Given the description of an element on the screen output the (x, y) to click on. 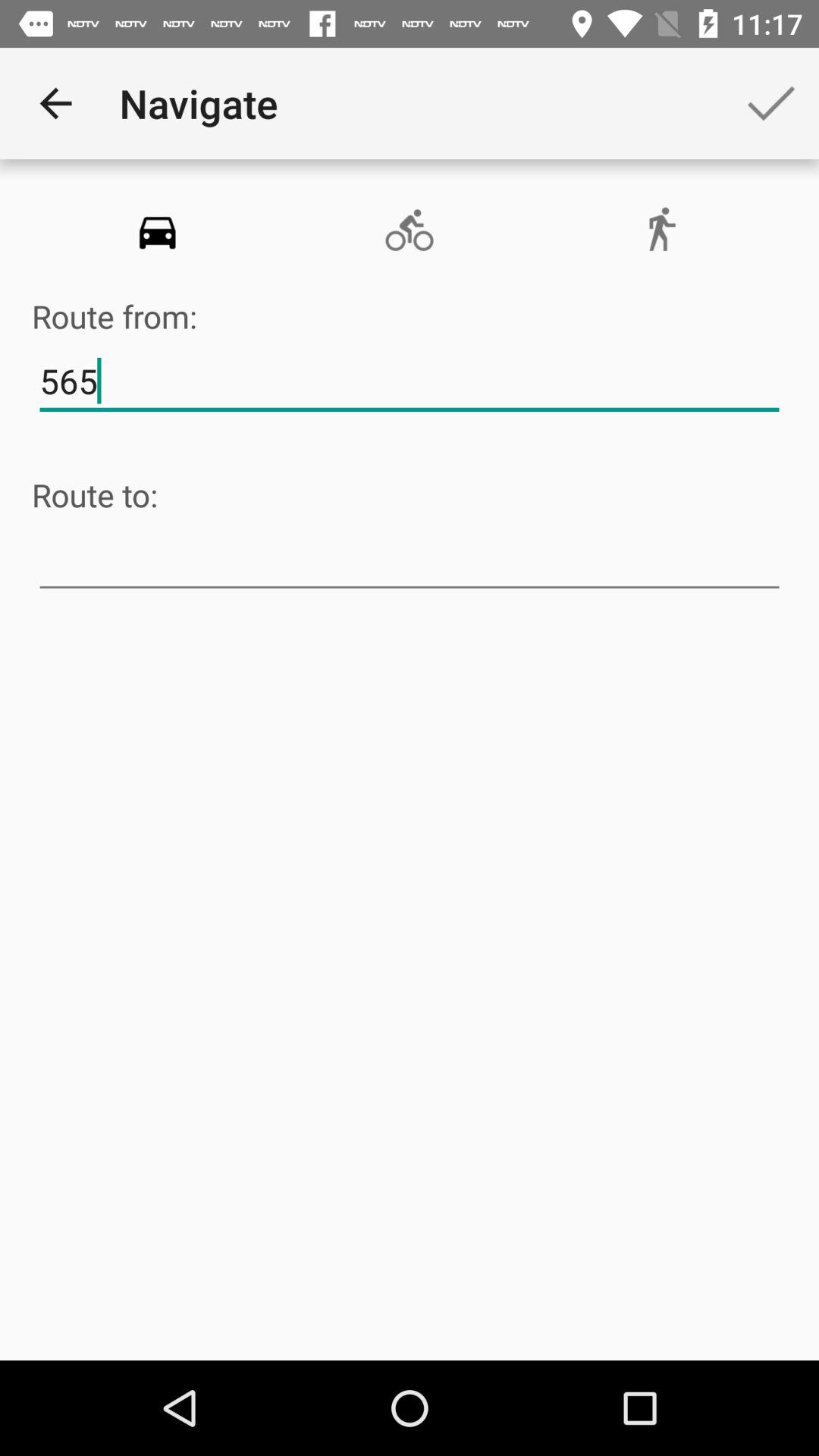
press the 565 item (409, 381)
